Given the description of an element on the screen output the (x, y) to click on. 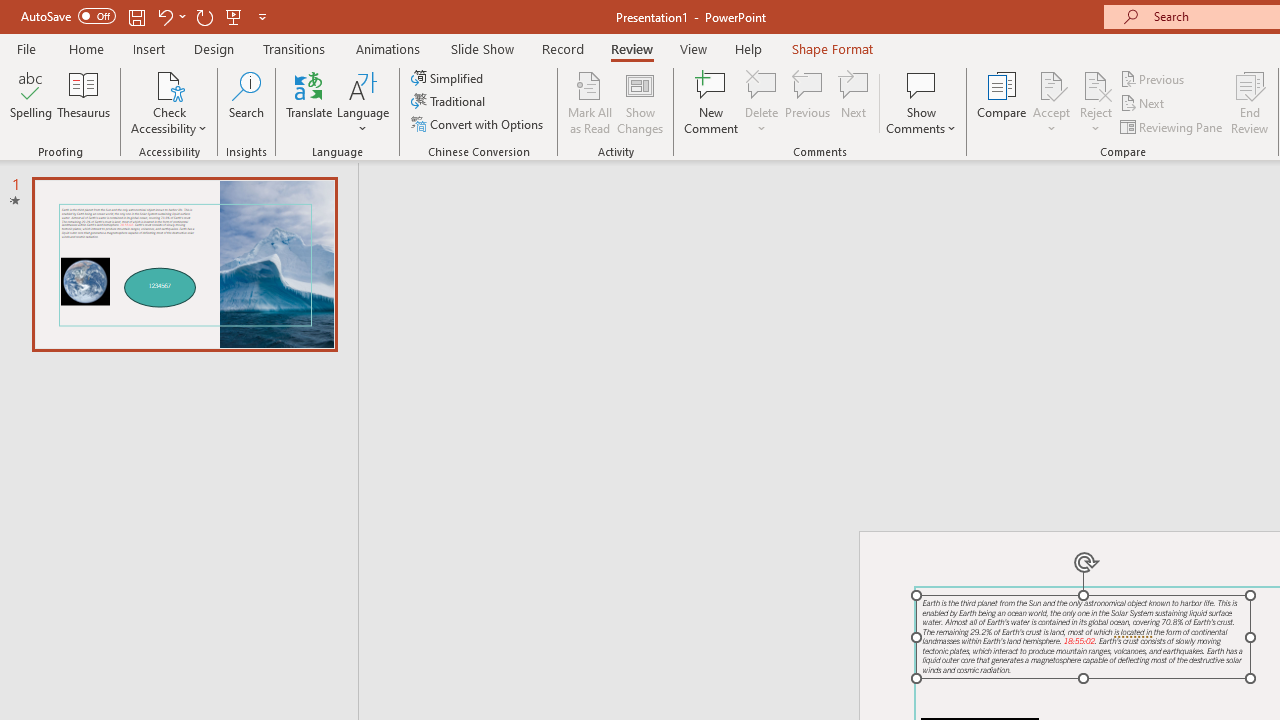
Translate (309, 102)
Previous (1153, 78)
Convert with Options... (479, 124)
Reject Change (1096, 84)
Delete (762, 102)
Simplified (449, 78)
